Given the description of an element on the screen output the (x, y) to click on. 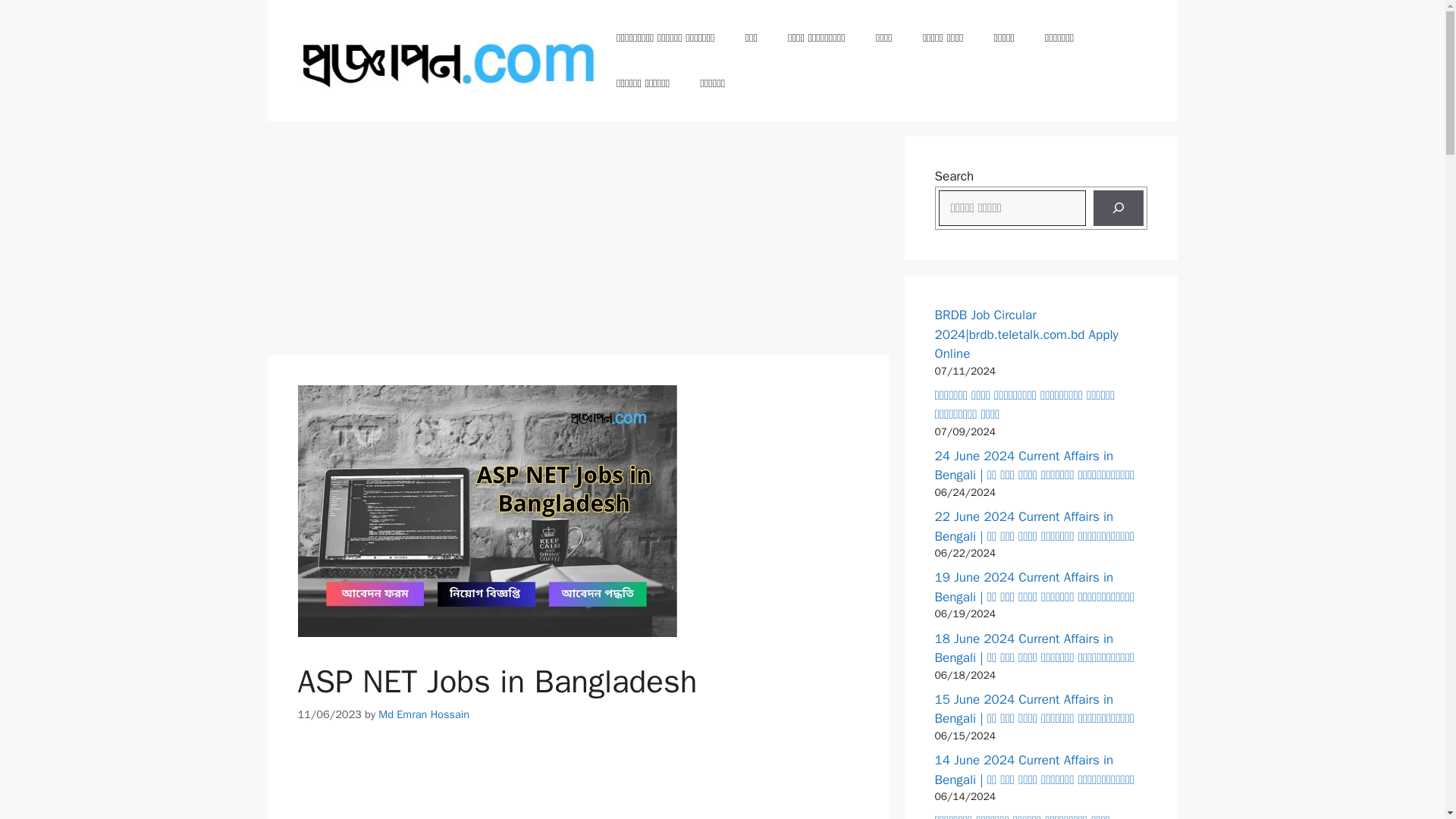
Advertisement (577, 242)
View all posts by Md Emran Hossain (423, 714)
Md Emran Hossain (423, 714)
Advertisement (578, 783)
